Given the description of an element on the screen output the (x, y) to click on. 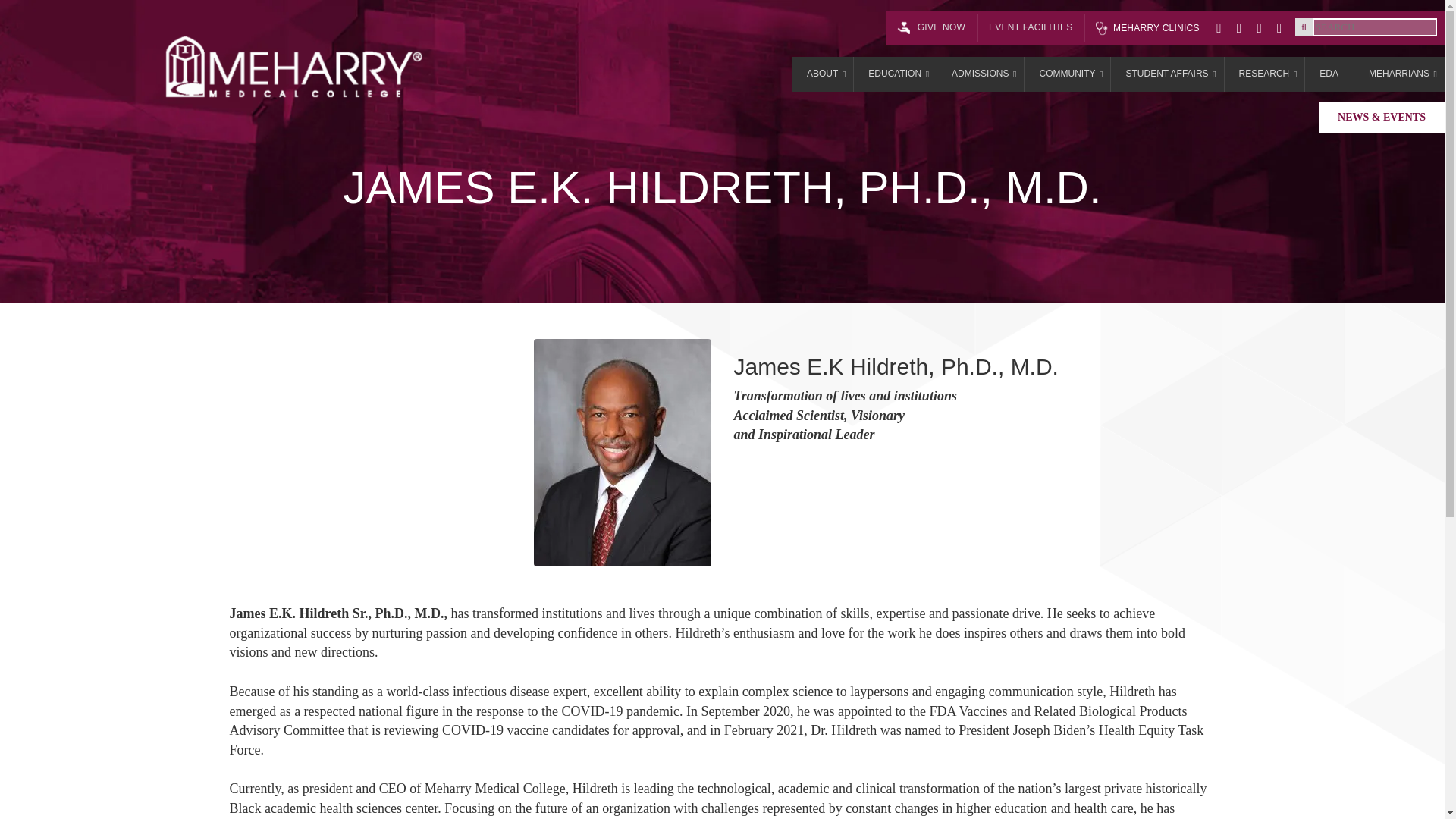
SEARCH (32, 12)
EVENT FACILITIES (1029, 27)
MEHARRY CLINICS (1146, 28)
ADMISSIONS (979, 73)
EDUCATION (894, 73)
ABOUT (822, 73)
GIVE NOW (1048, 28)
